Given the description of an element on the screen output the (x, y) to click on. 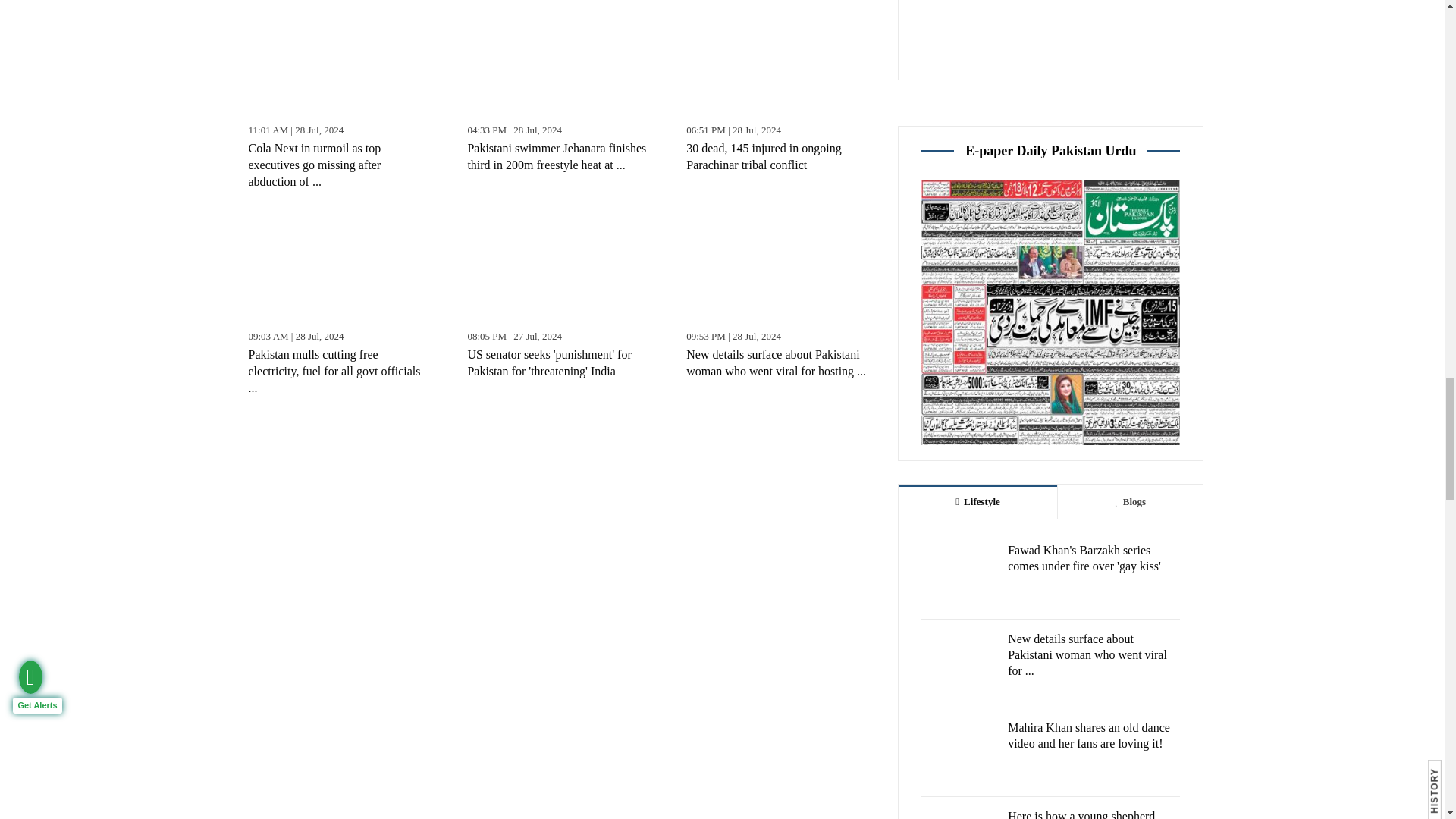
30 dead, 145 injured in ongoing Parachinar tribal conflict (776, 61)
